Given the description of an element on the screen output the (x, y) to click on. 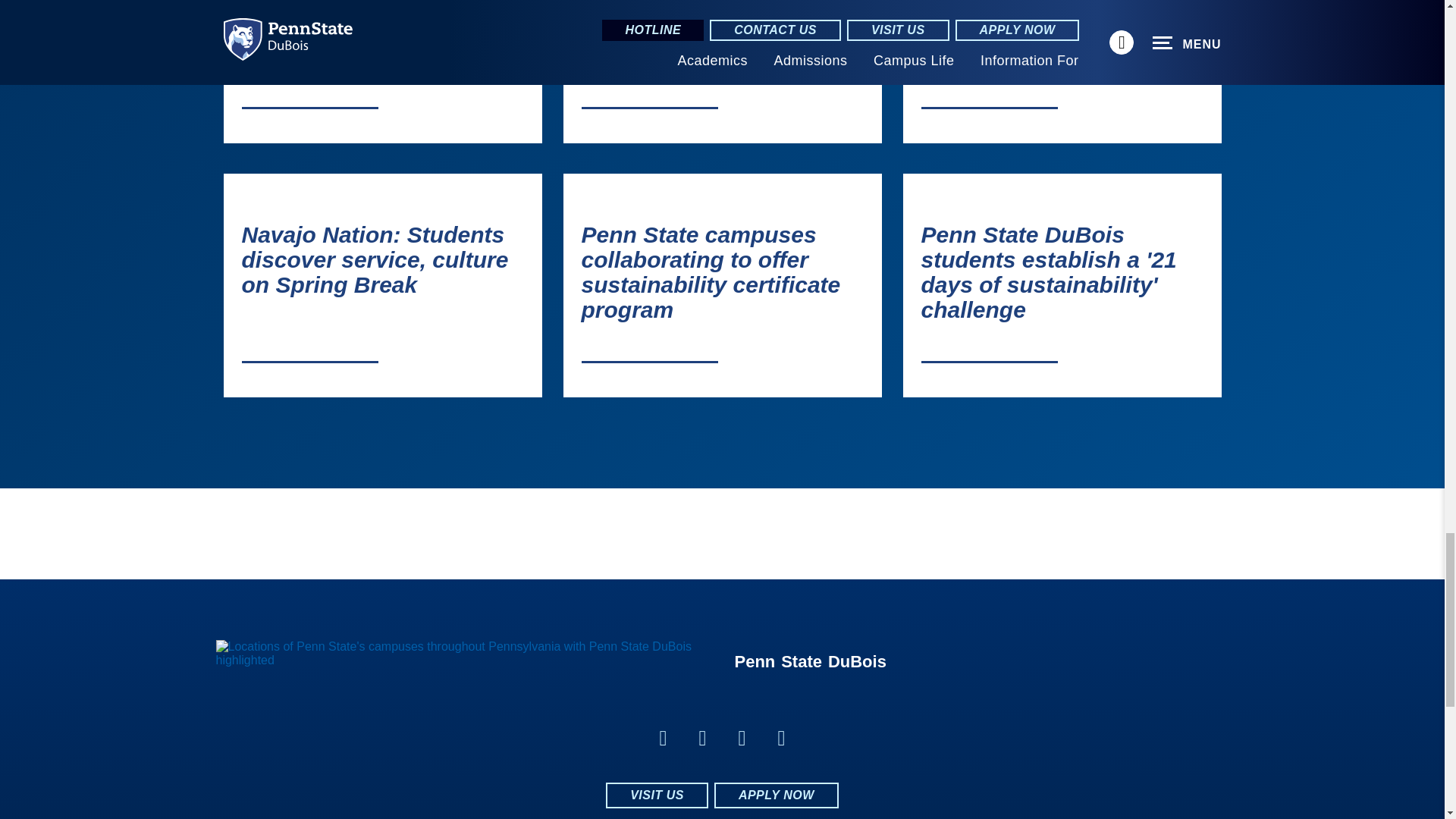
instagram (781, 738)
twitter (741, 738)
facebook (662, 738)
linkedin (702, 738)
